Given the description of an element on the screen output the (x, y) to click on. 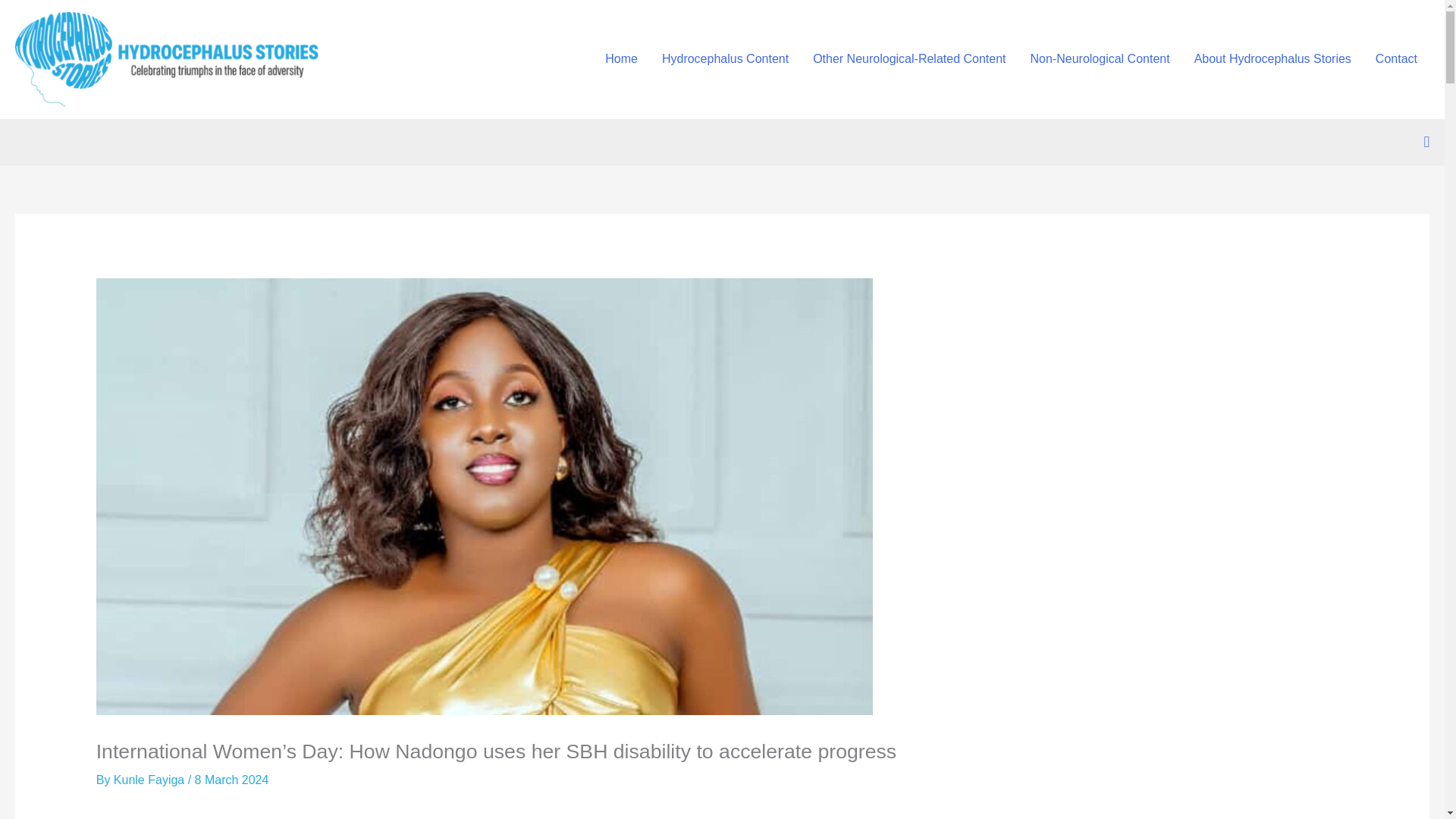
About Hydrocephalus Stories (1272, 58)
Non-Neurological Content (1099, 58)
View all posts by Kunle Fayiga (150, 779)
Kunle Fayiga (150, 779)
Hydrocephalus Content (724, 58)
Contact (1395, 58)
Other Neurological-Related Content (908, 58)
Search (1426, 141)
Home (620, 58)
